Given the description of an element on the screen output the (x, y) to click on. 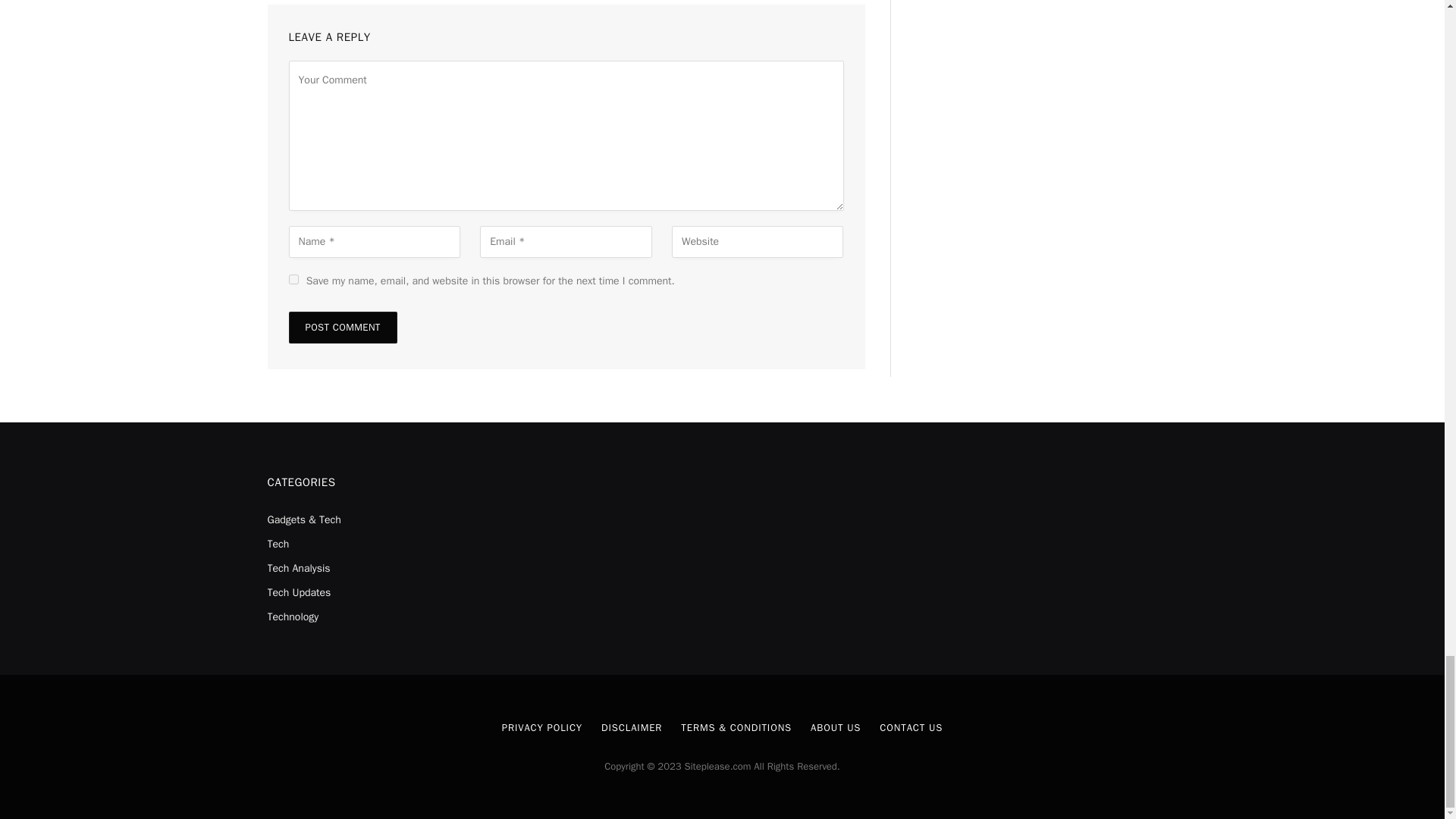
yes (293, 279)
Post Comment (342, 327)
